Given the description of an element on the screen output the (x, y) to click on. 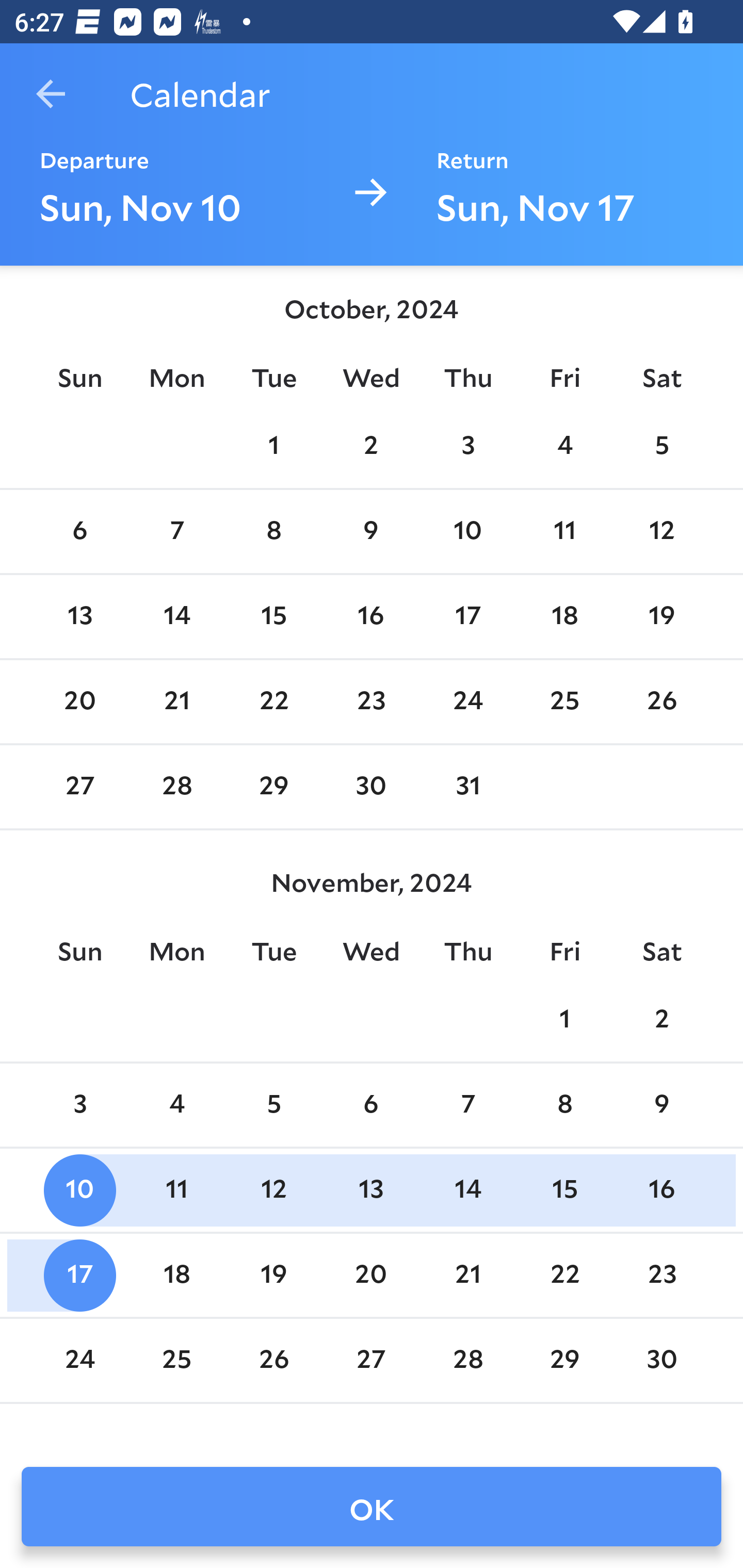
Navigate up (50, 93)
1 (273, 446)
2 (371, 446)
3 (467, 446)
4 (565, 446)
5 (661, 446)
6 (79, 531)
7 (177, 531)
8 (273, 531)
9 (371, 531)
10 (467, 531)
11 (565, 531)
12 (661, 531)
13 (79, 616)
14 (177, 616)
15 (273, 616)
16 (371, 616)
17 (467, 616)
18 (565, 616)
19 (661, 616)
20 (79, 702)
21 (177, 702)
22 (273, 702)
23 (371, 702)
24 (467, 702)
25 (565, 702)
26 (661, 702)
27 (79, 787)
28 (177, 787)
29 (273, 787)
30 (371, 787)
31 (467, 787)
1 (565, 1020)
2 (661, 1020)
3 (79, 1105)
4 (177, 1105)
5 (273, 1105)
6 (371, 1105)
7 (467, 1105)
8 (565, 1105)
9 (661, 1105)
10 (79, 1190)
11 (177, 1190)
12 (273, 1190)
13 (371, 1190)
14 (467, 1190)
15 (565, 1190)
16 (661, 1190)
17 (79, 1275)
18 (177, 1275)
